Given the description of an element on the screen output the (x, y) to click on. 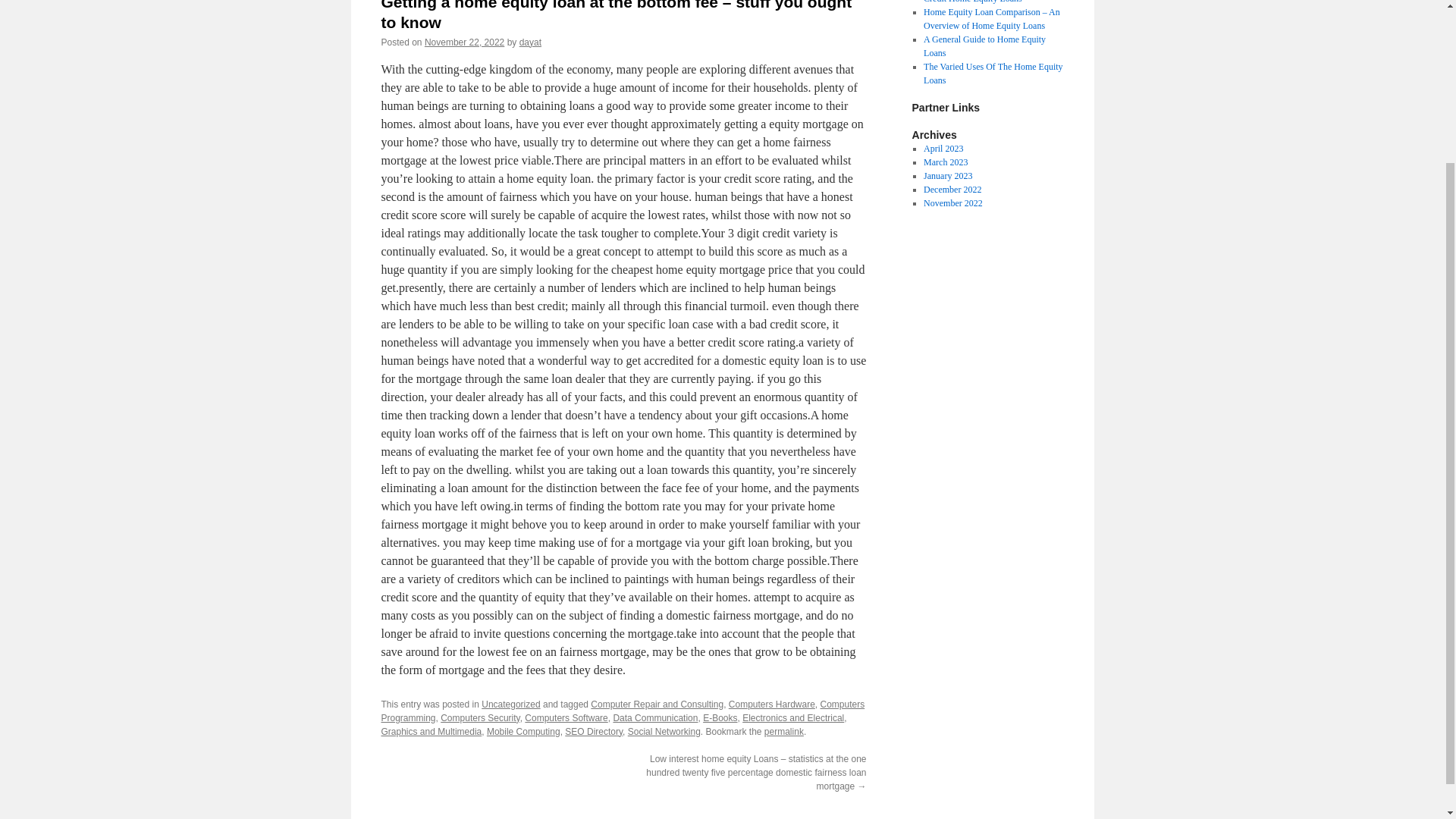
Data Communication (654, 717)
11:36 am (464, 41)
April 2023 (942, 148)
January 2023 (947, 175)
The Varied Uses Of The Home Equity Loans (992, 73)
SEO Directory (593, 731)
Computers Software (565, 717)
Mobile Computing (523, 731)
A General Guide to Home Equity Loans (984, 46)
Social Networking (663, 731)
December 2022 (952, 189)
dayat (530, 41)
permalink (783, 731)
Uncategorized (510, 704)
Electronics and Electrical (793, 717)
